Given the description of an element on the screen output the (x, y) to click on. 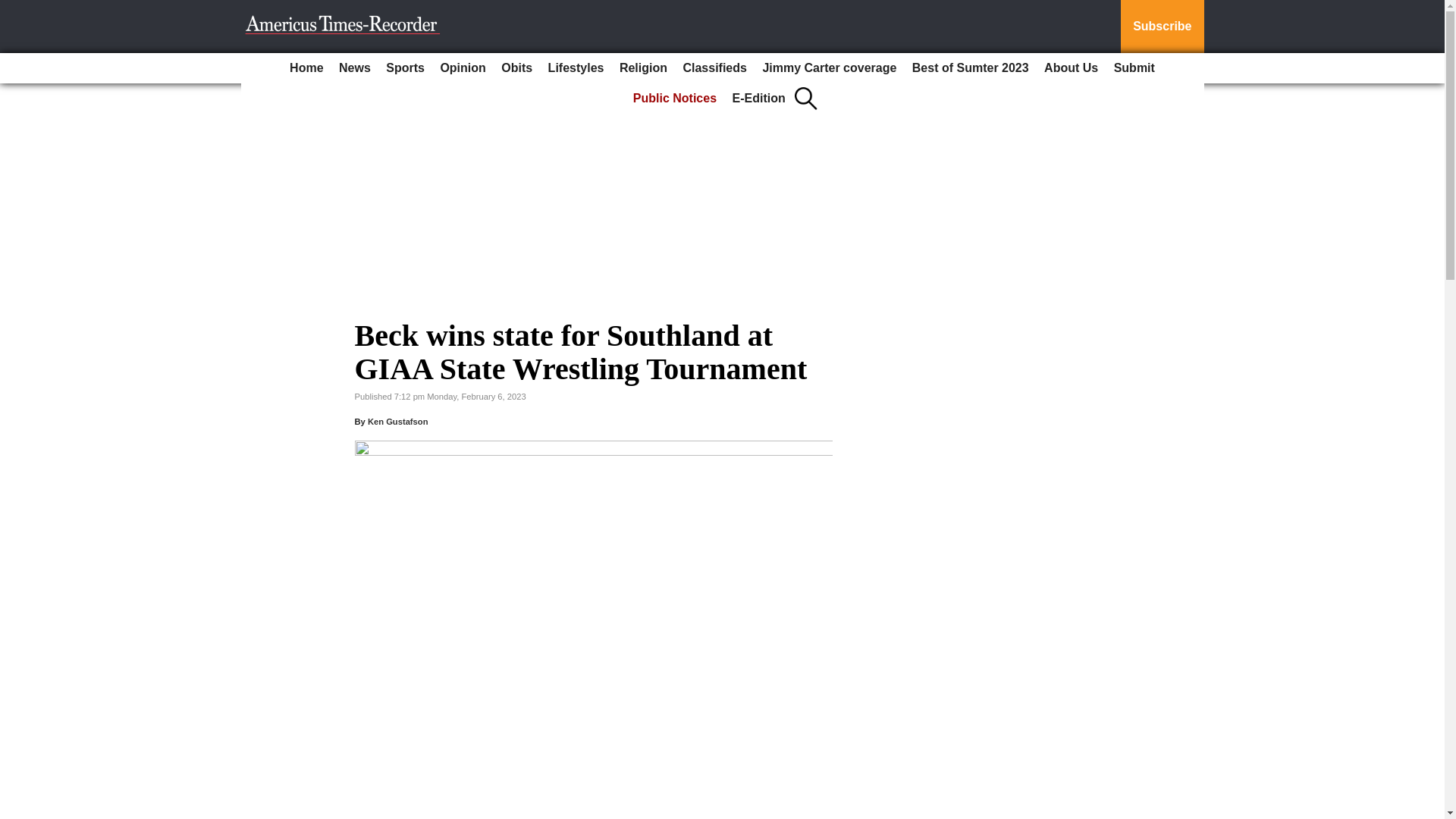
Sports (405, 68)
News (355, 68)
Religion (642, 68)
Best of Sumter 2023 (970, 68)
Go (13, 9)
E-Edition (759, 98)
Submit (1134, 68)
Public Notices (674, 98)
Home (306, 68)
Classifieds (714, 68)
